Given the description of an element on the screen output the (x, y) to click on. 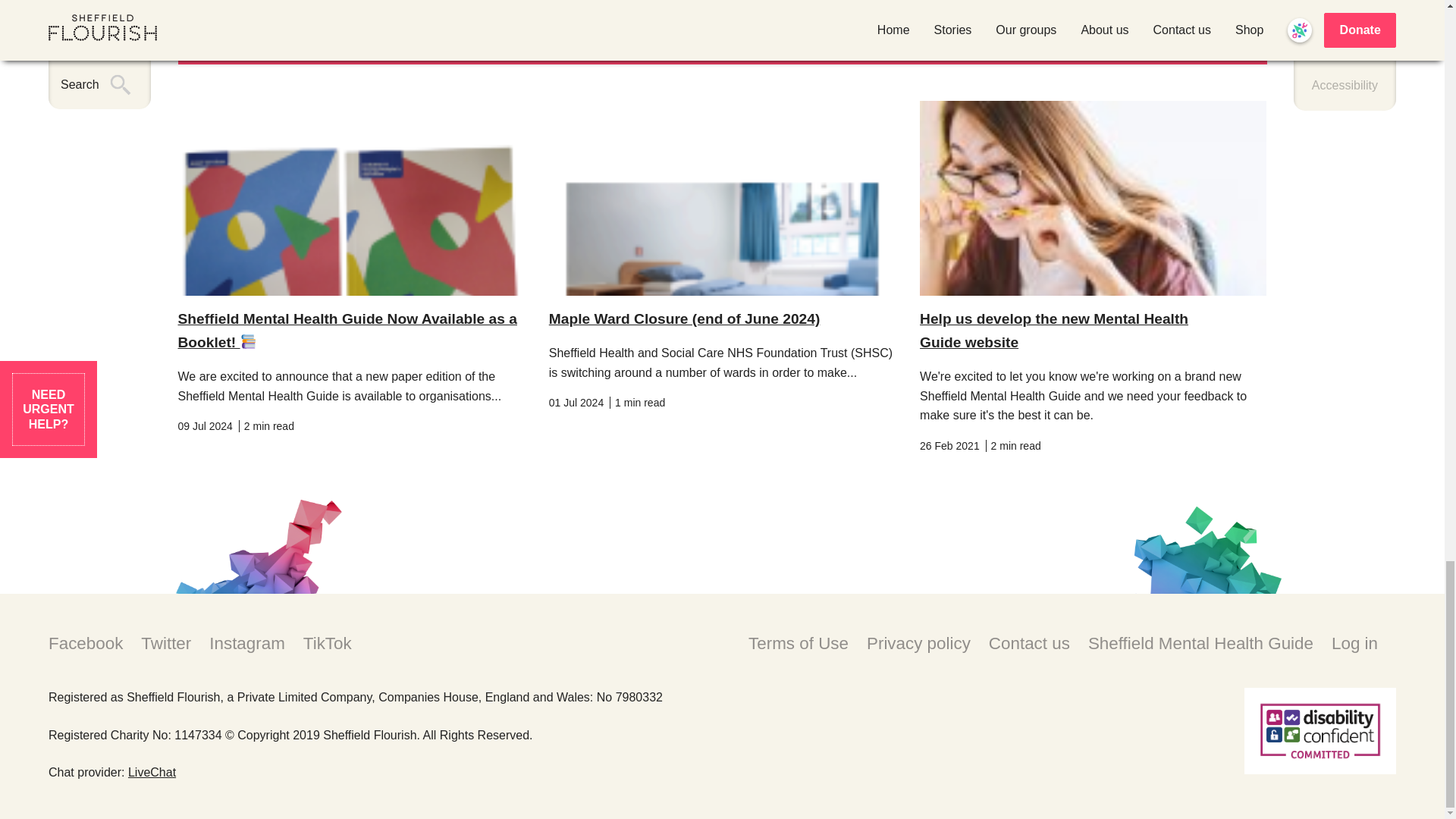
Twitter (165, 642)
Sheffield Mental Health Guide Now Available as a Booklet! (346, 330)
Facebook (85, 642)
Help us develop the new Mental Health Guide website (1054, 330)
